Given the description of an element on the screen output the (x, y) to click on. 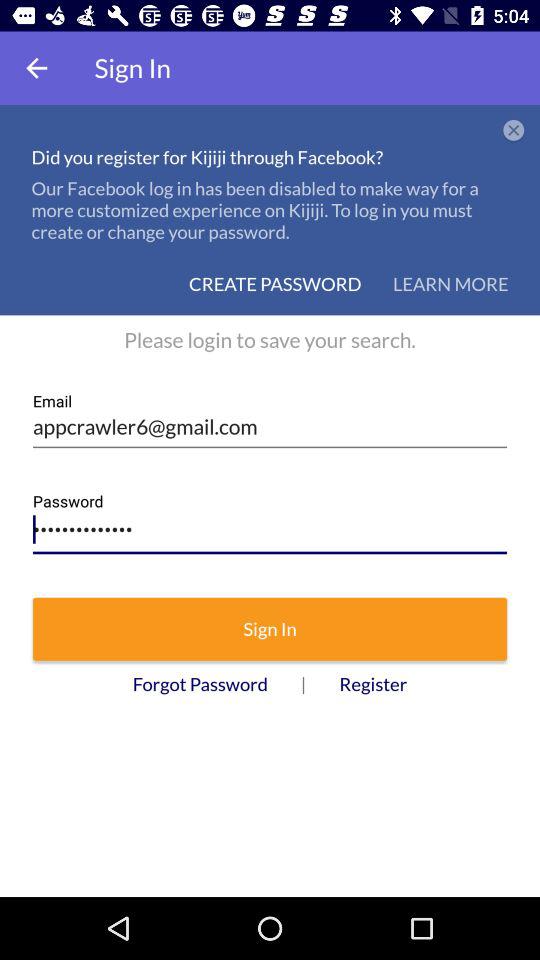
tap the appcrawler3116 (270, 524)
